Given the description of an element on the screen output the (x, y) to click on. 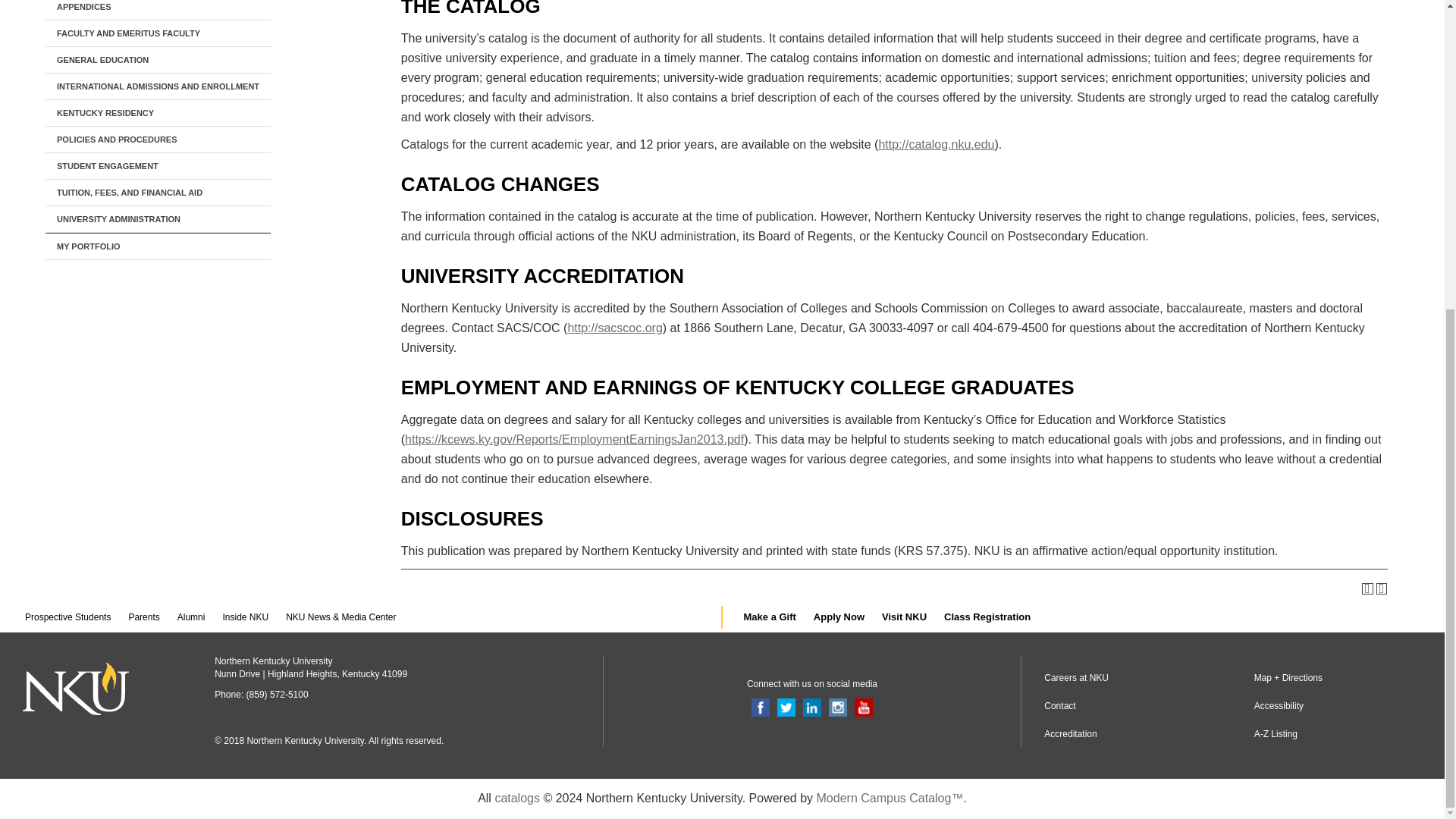
FACULTY AND EMERITUS FACULTY (157, 33)
GENERAL EDUCATION (157, 59)
INTERNATIONAL ADMISSIONS AND ENROLLMENT (157, 86)
APPENDICES (157, 10)
